Given the description of an element on the screen output the (x, y) to click on. 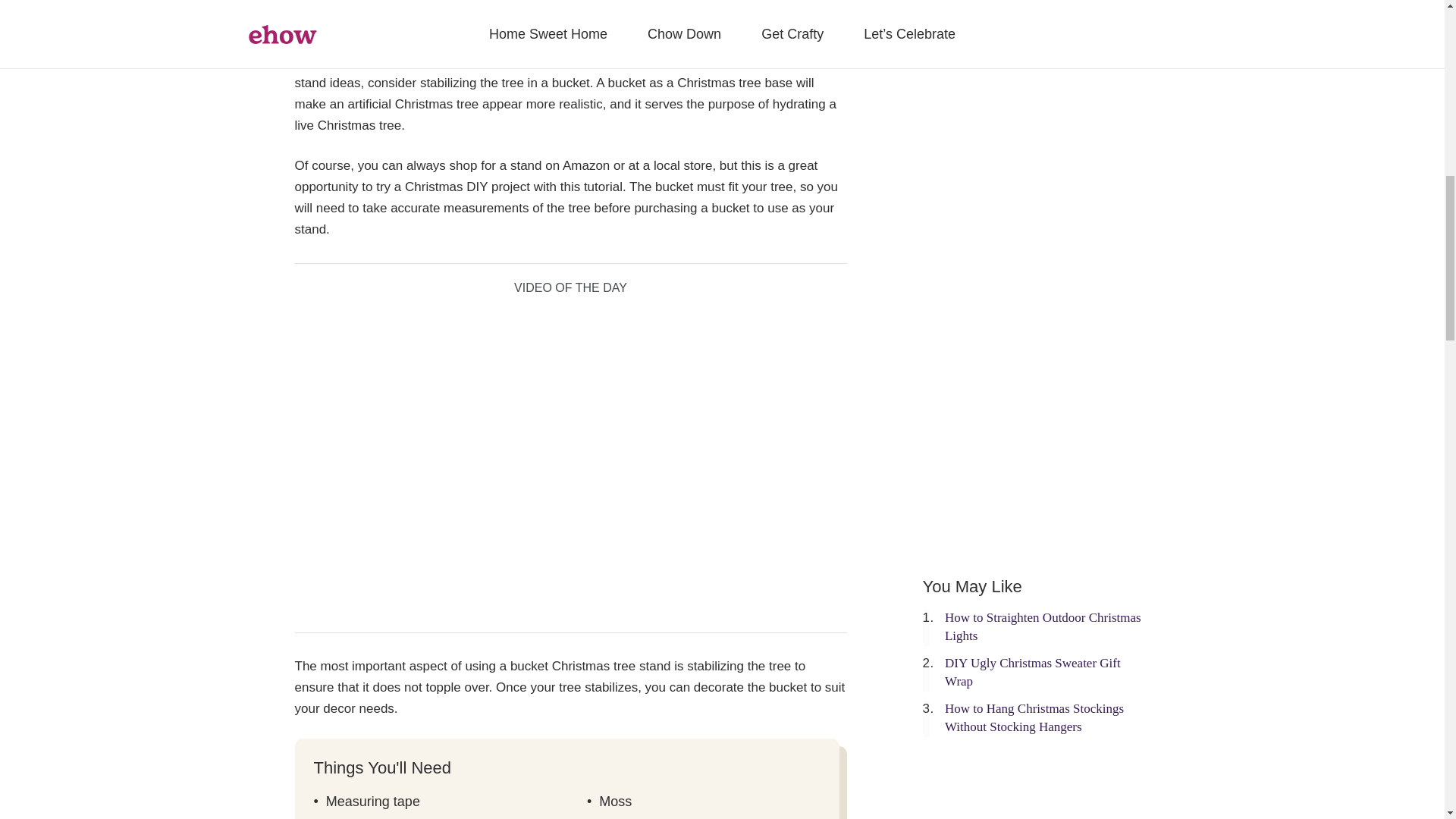
How to Straighten Outdoor Christmas Lights (1042, 626)
DIY Ugly Christmas Sweater Gift Wrap (1032, 672)
How to Hang Christmas Stockings Without Stocking Hangers (1034, 717)
